Given the description of an element on the screen output the (x, y) to click on. 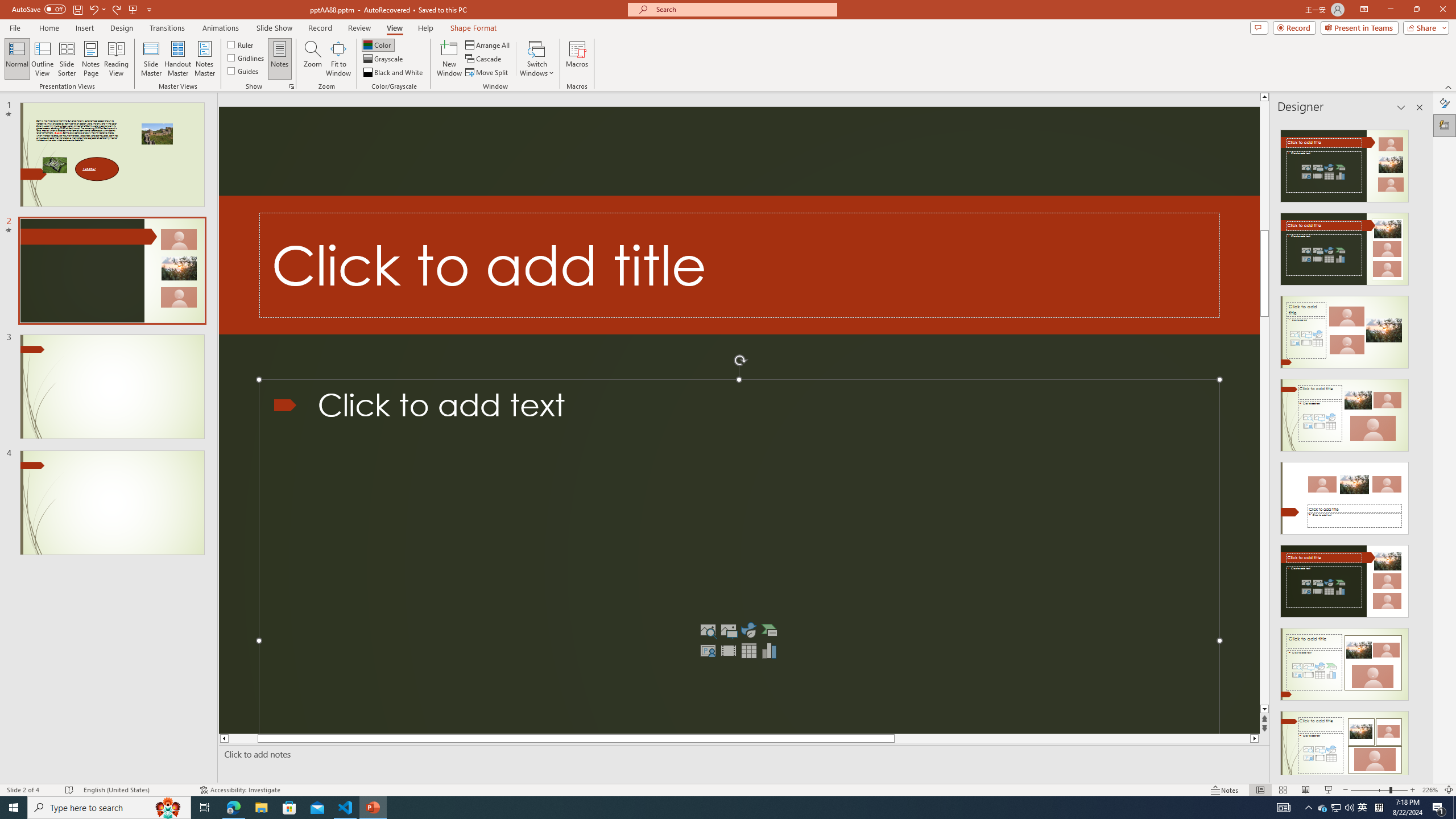
Recommended Design: Design Idea (1344, 162)
Stock Images (707, 629)
Ruler (241, 44)
Slide Master (151, 58)
Switch Windows (537, 58)
Grayscale (383, 58)
Zoom 226% (1430, 790)
Notes Page (90, 58)
